Given the description of an element on the screen output the (x, y) to click on. 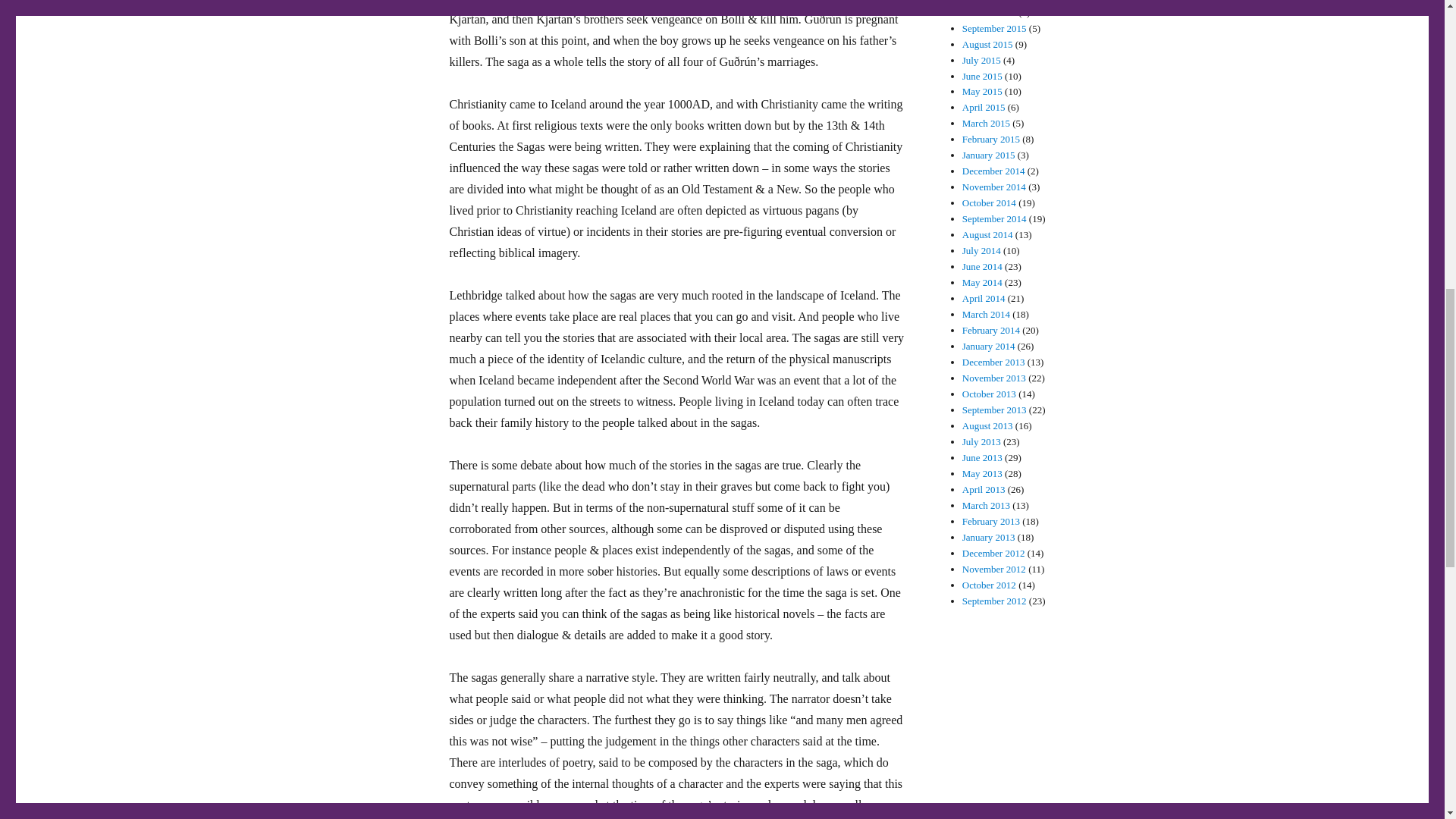
November 2015 (994, 1)
April 2015 (984, 107)
August 2015 (987, 43)
June 2015 (982, 75)
October 2015 (989, 12)
July 2015 (981, 60)
May 2015 (982, 91)
September 2015 (994, 28)
